Given the description of an element on the screen output the (x, y) to click on. 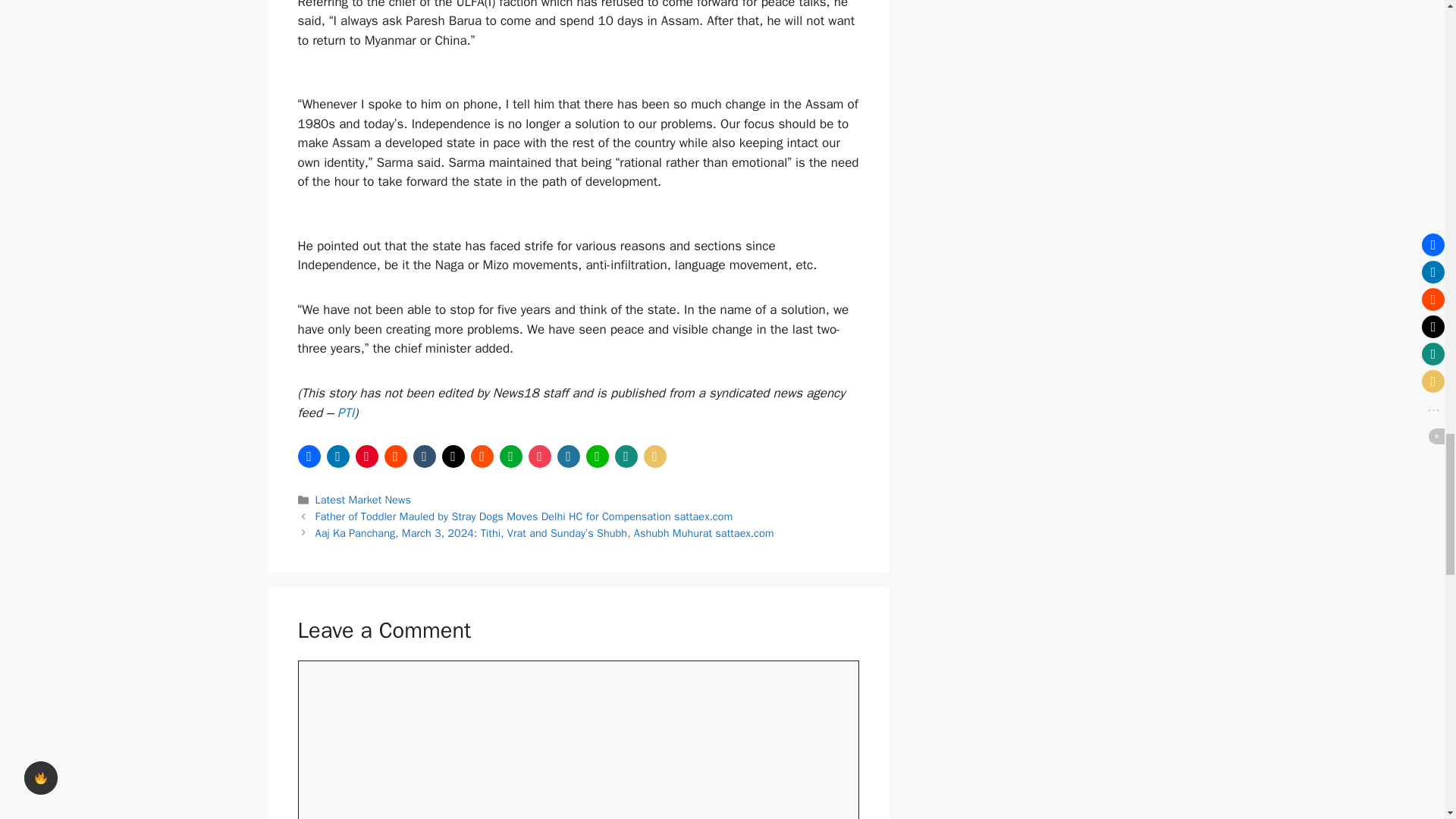
PTI (345, 412)
Latest Market News (362, 499)
